Given the description of an element on the screen output the (x, y) to click on. 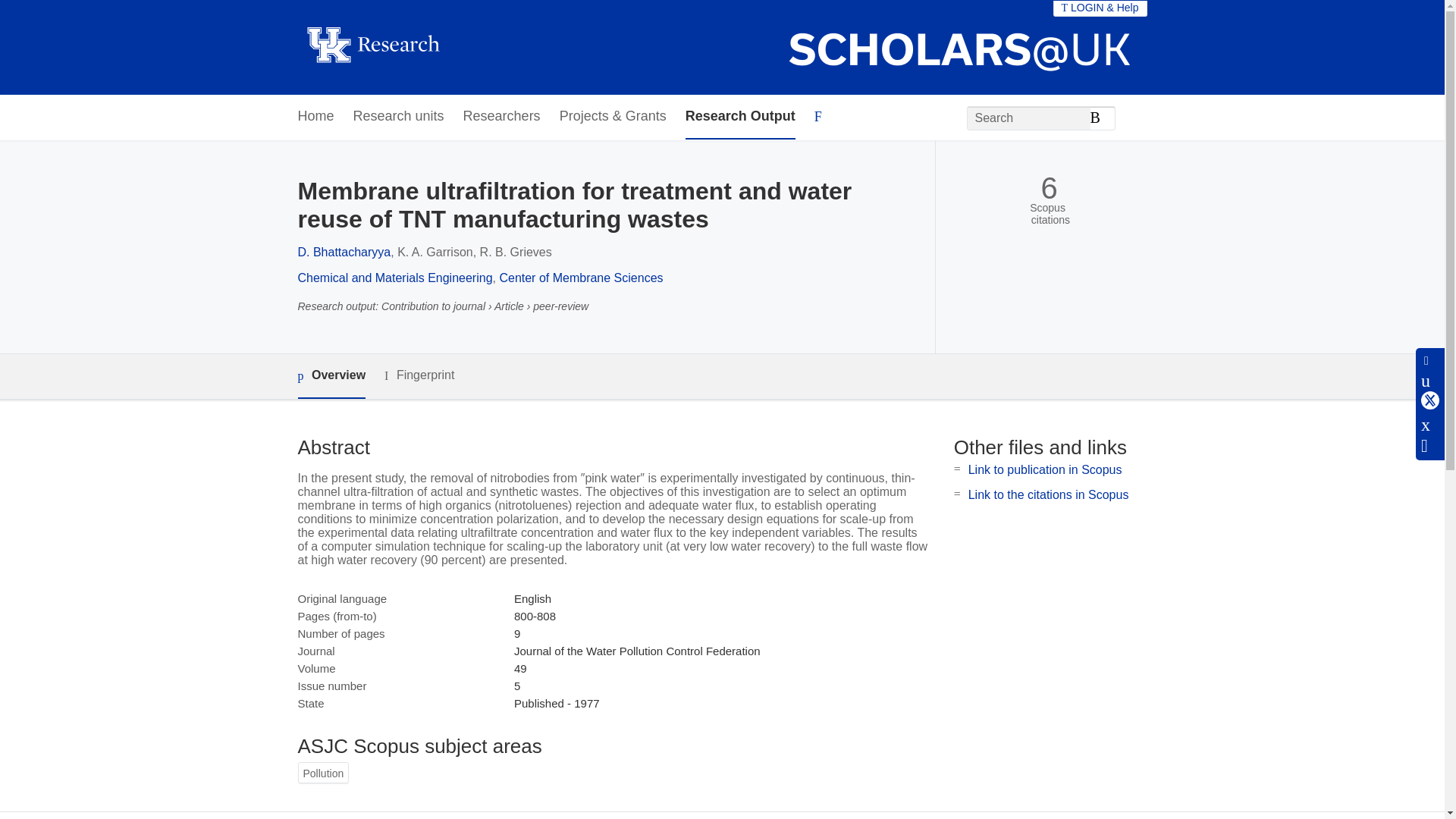
Research units (398, 117)
Chemical and Materials Engineering (394, 277)
Researchers (501, 117)
Link to the citations in Scopus (1048, 494)
Overview (331, 375)
Link to publication in Scopus (1045, 469)
University of Kentucky Home (372, 47)
D. Bhattacharyya (343, 251)
Center of Membrane Sciences (580, 277)
